Given the description of an element on the screen output the (x, y) to click on. 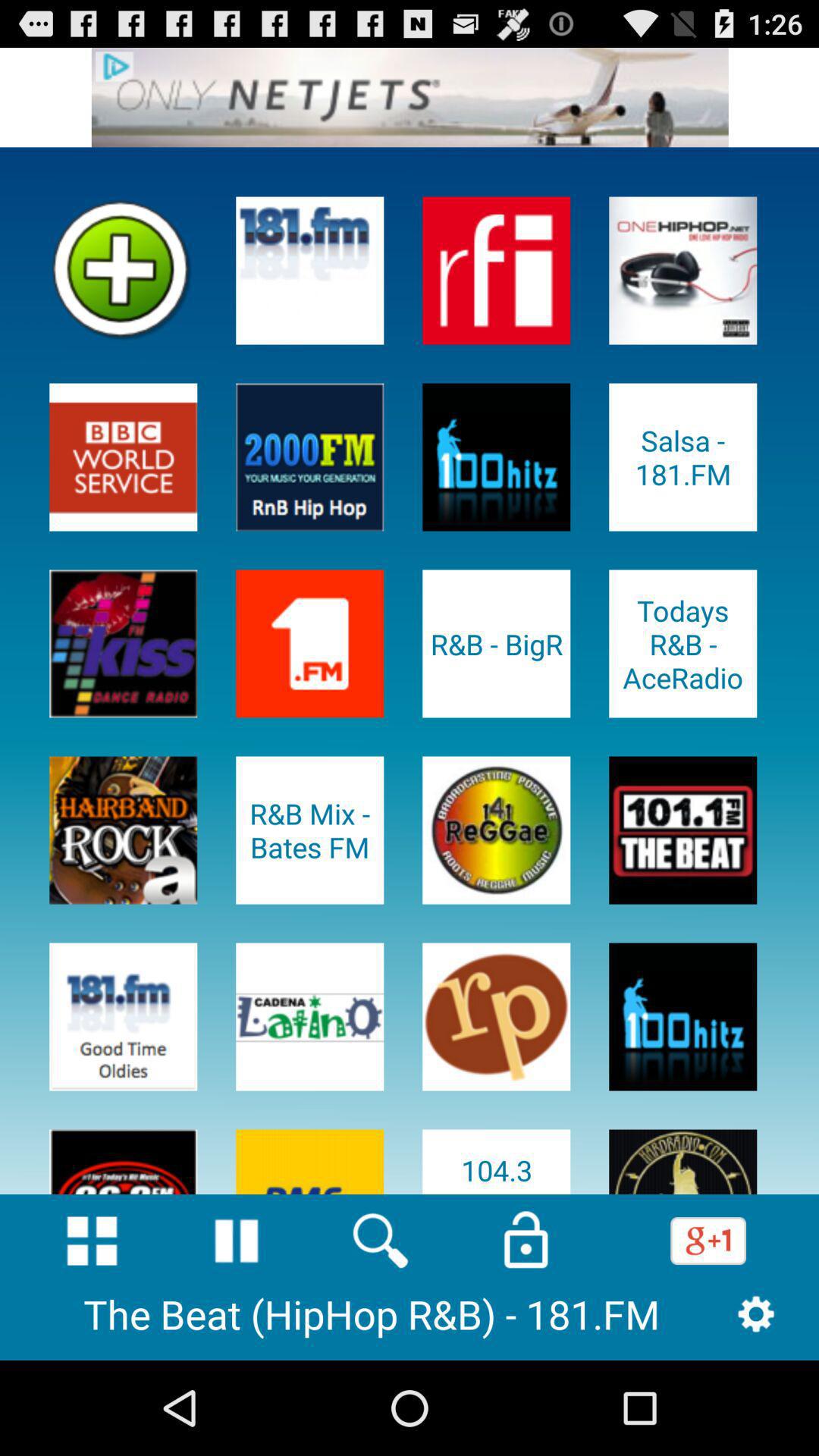
press the pause (236, 1240)
